Given the description of an element on the screen output the (x, y) to click on. 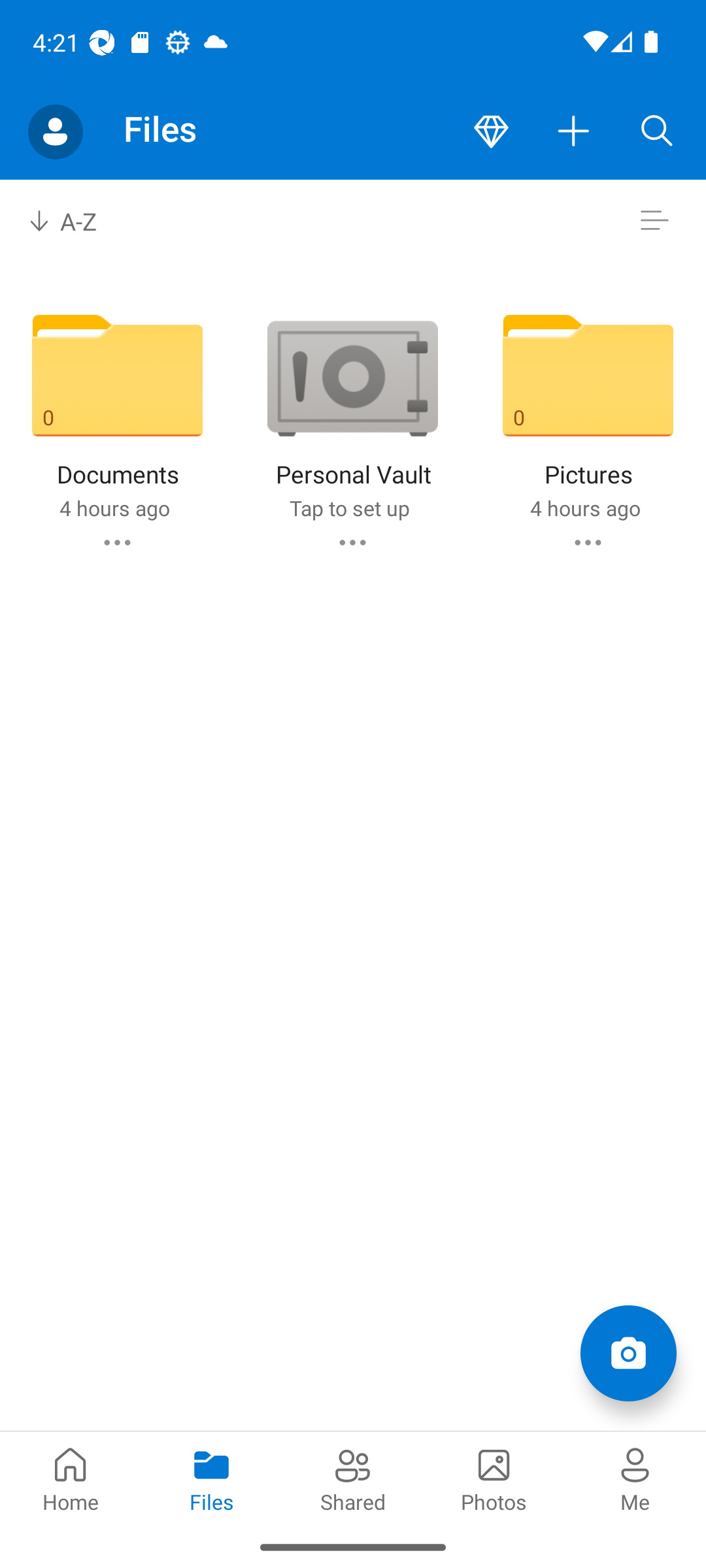
Account switcher (55, 131)
Premium button (491, 131)
More actions button (574, 131)
Search button (656, 131)
A-Z Sort by combo box, sort by name, A to Z (76, 220)
Switch to list view (654, 220)
4 hours ago (113, 507)
Tap to set up (348, 507)
4 hours ago (584, 507)
Documents commands (116, 542)
Personal Vault commands (352, 542)
Pictures commands (587, 542)
Add items Scan (628, 1352)
Home pivot Home (70, 1478)
Shared pivot Shared (352, 1478)
Photos pivot Photos (493, 1478)
Me pivot Me (635, 1478)
